Given the description of an element on the screen output the (x, y) to click on. 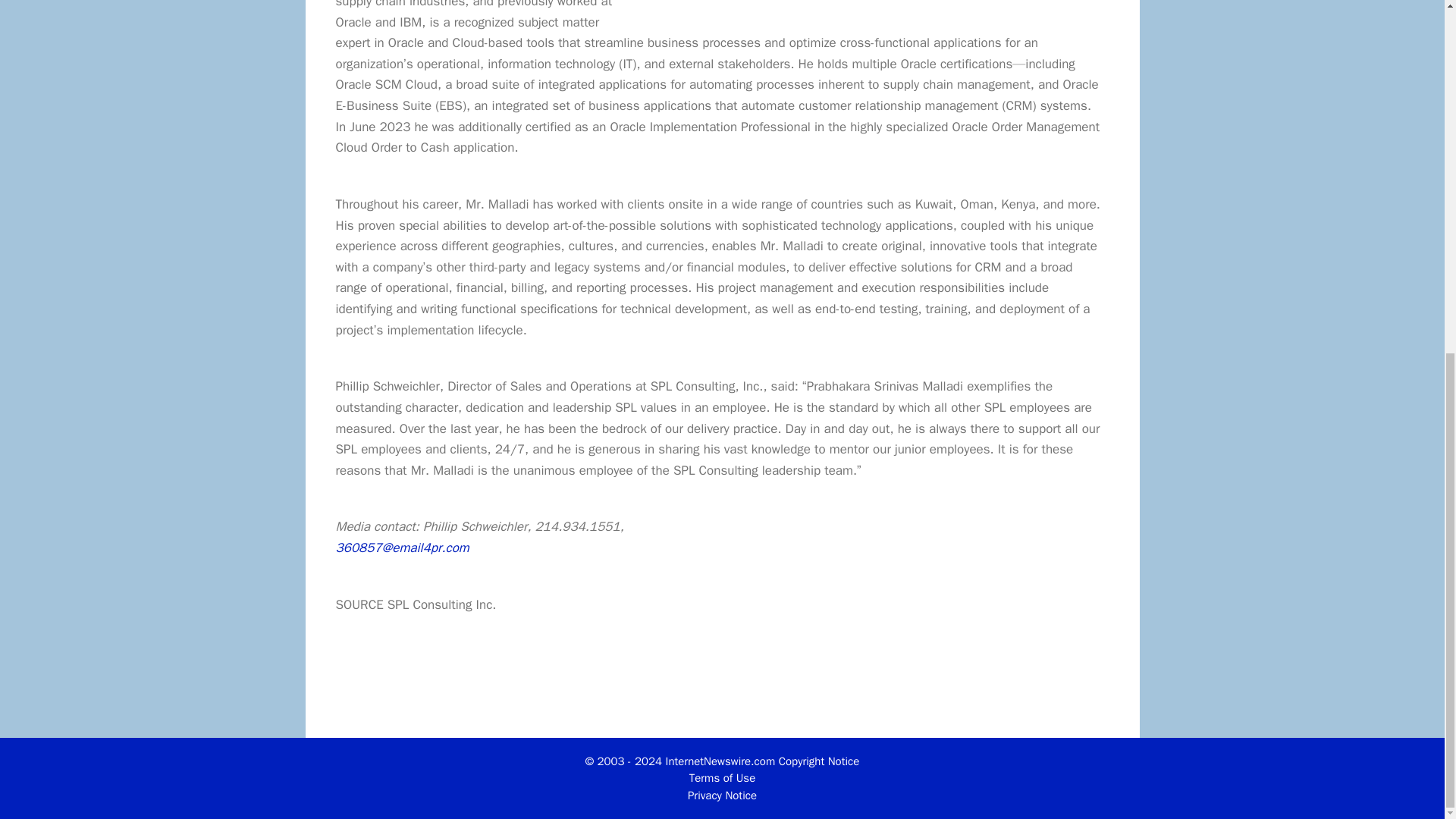
Privacy Notice (722, 795)
Terms of Use (721, 777)
